Given the description of an element on the screen output the (x, y) to click on. 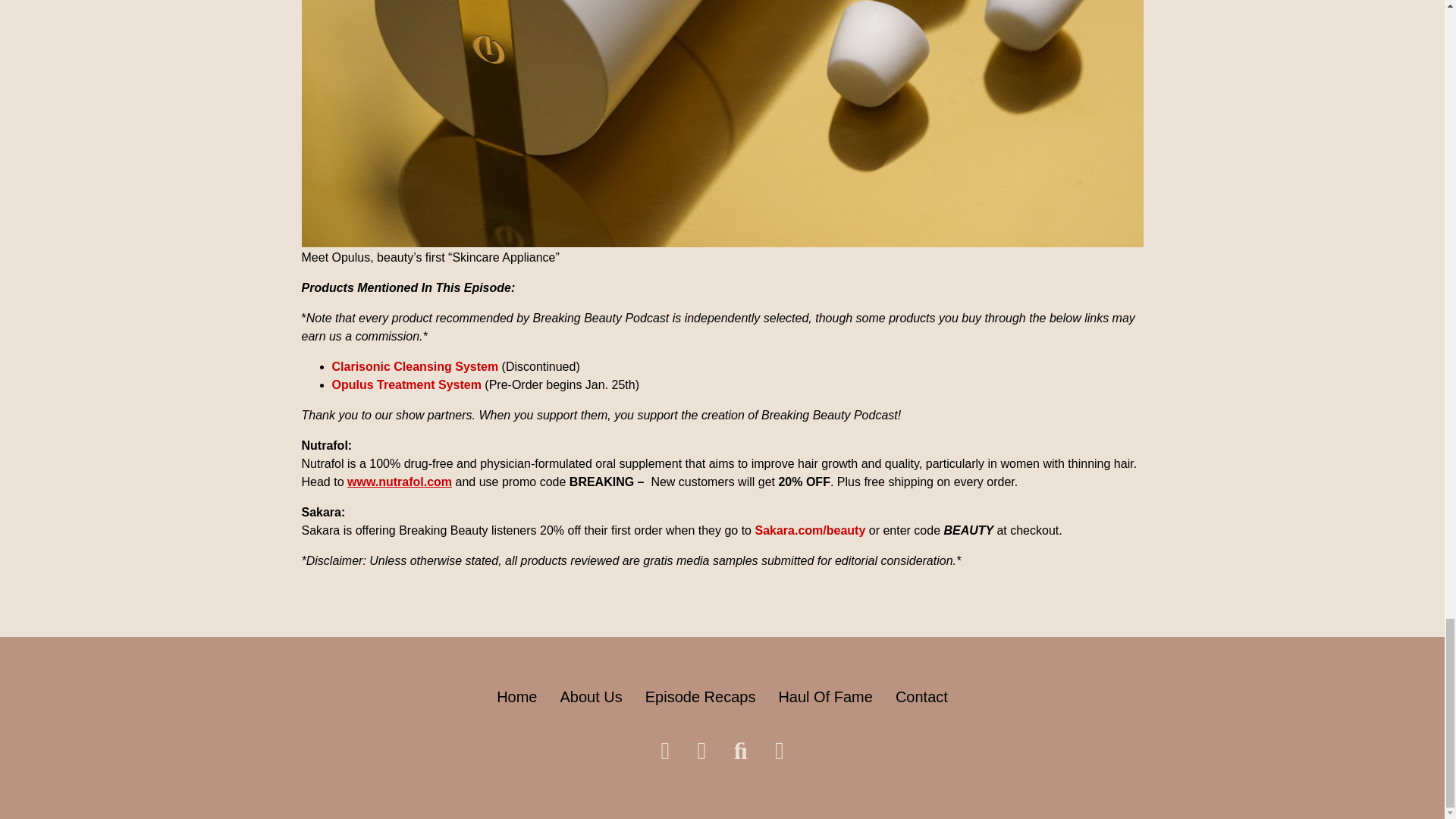
www.nutrafol.com (399, 481)
Haul Of Fame (824, 696)
Opulus Treatment System (406, 384)
Clarisonic Cleansing System (415, 366)
Home (516, 696)
Episode Recaps (700, 696)
About Us (590, 696)
Contact (921, 696)
